Given the description of an element on the screen output the (x, y) to click on. 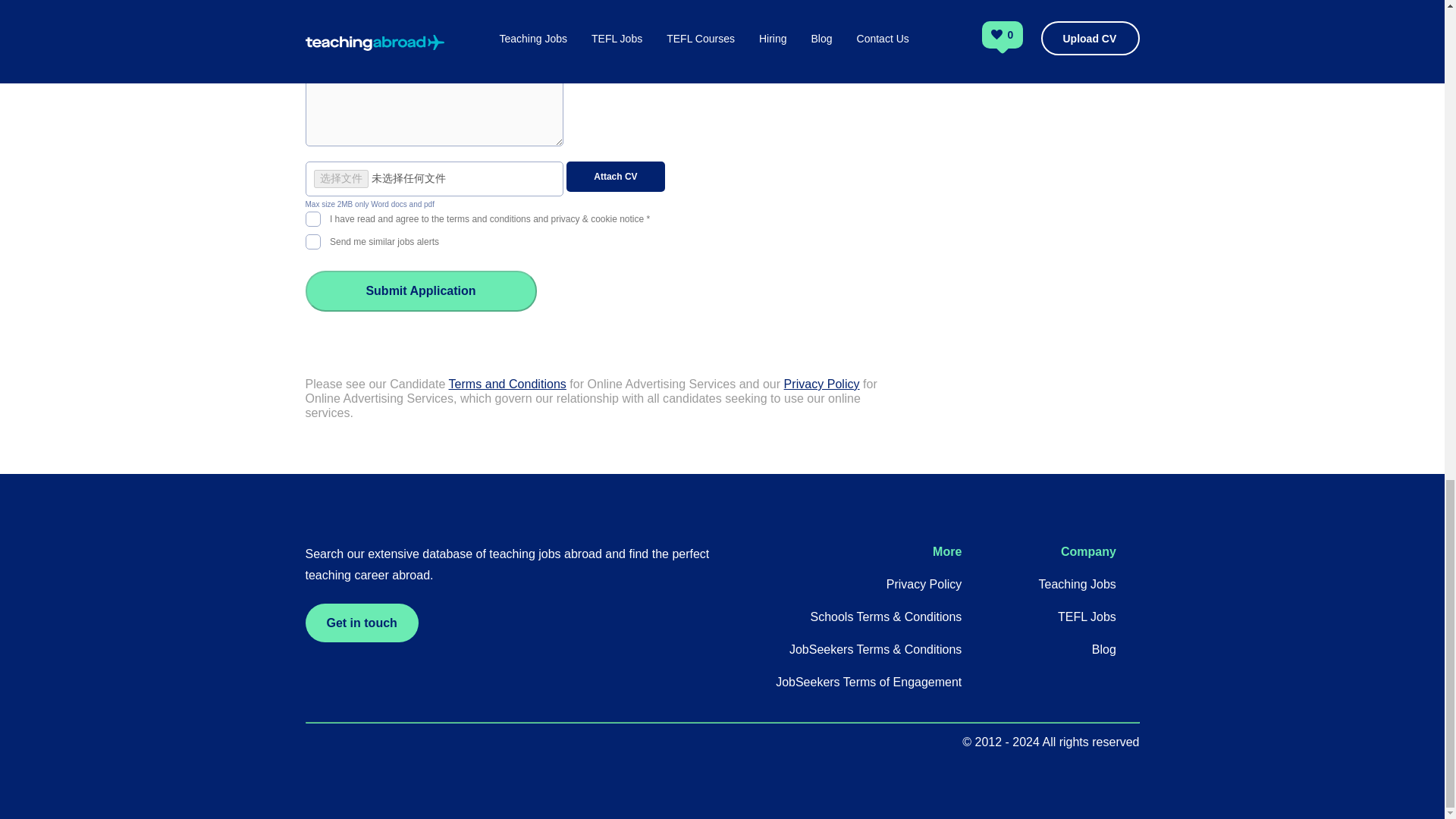
Privacy Policy (822, 383)
Privacy Policy (924, 584)
Please see our Candidate (376, 383)
Get in touch (360, 622)
Teaching Jobs (1077, 584)
Submit Application (419, 291)
on (312, 216)
JobSeekers Terms of Engagement (868, 681)
Blog (1104, 649)
on (312, 239)
Terms and Conditions (507, 383)
TEFL Jobs (1087, 616)
